Given the description of an element on the screen output the (x, y) to click on. 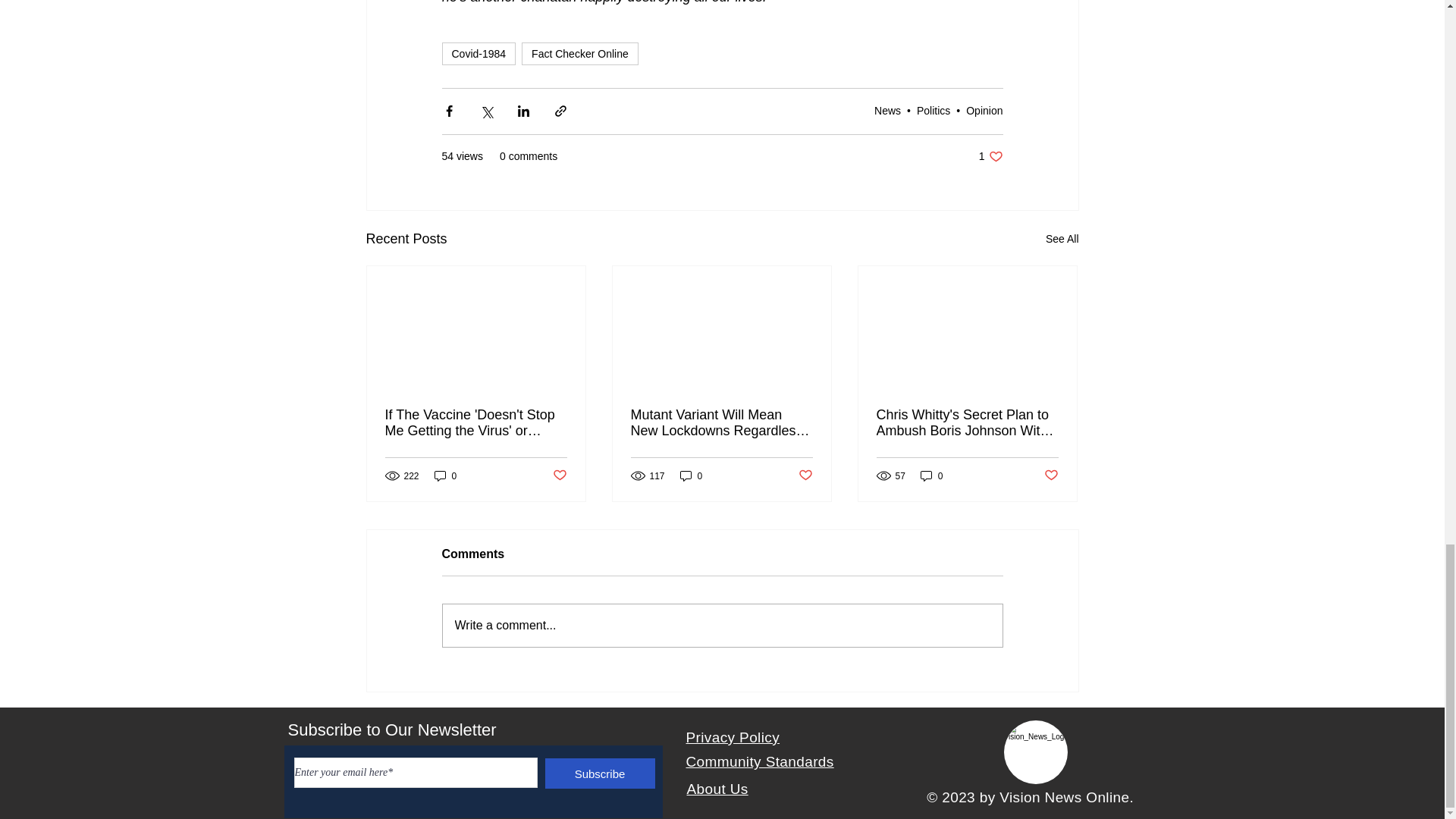
Mutant Variant Will Mean New Lockdowns Regardless of Vaccine (721, 422)
Post not marked as liked (990, 156)
Post not marked as liked (1050, 475)
0 (558, 475)
0 (931, 475)
0 (445, 475)
Fact Checker Online (691, 475)
News (580, 53)
See All (888, 110)
Opinion (1061, 239)
Covid-1984 (984, 110)
Post not marked as liked (478, 53)
